Given the description of an element on the screen output the (x, y) to click on. 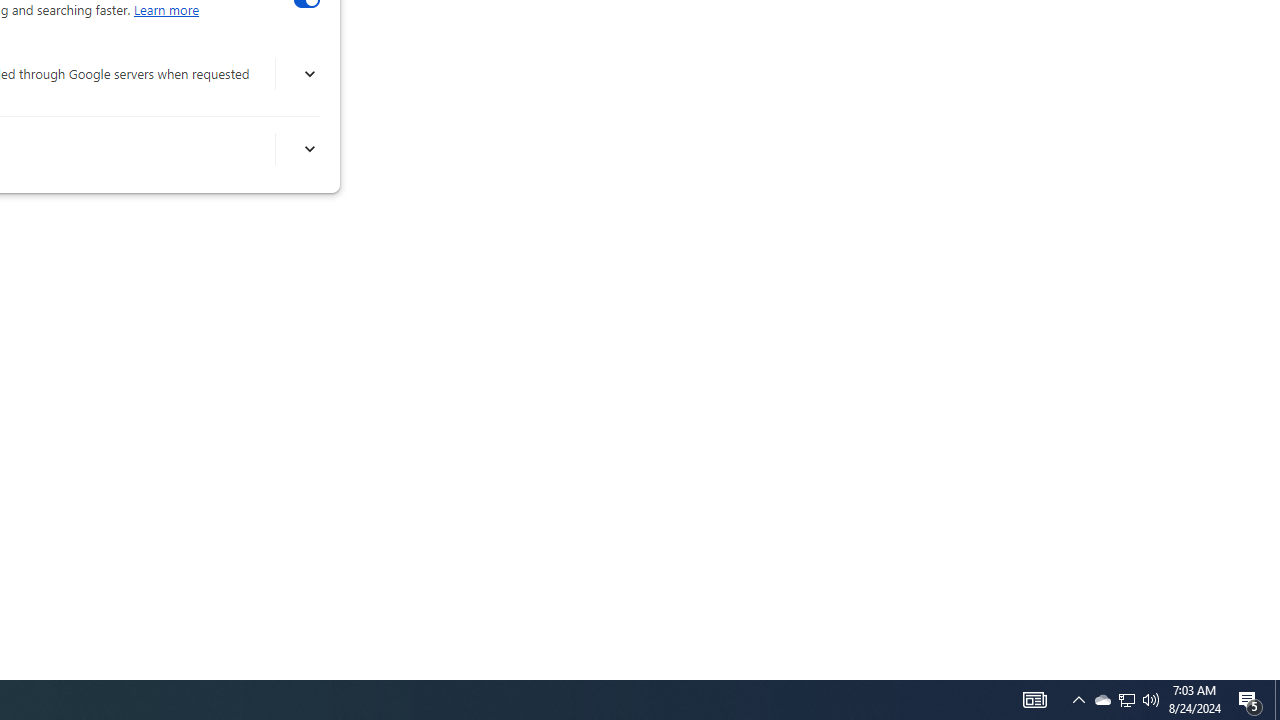
 More info about turning on standard preloading (308, 149)
 More info about turning on extended preloading (308, 74)
